Given the description of an element on the screen output the (x, y) to click on. 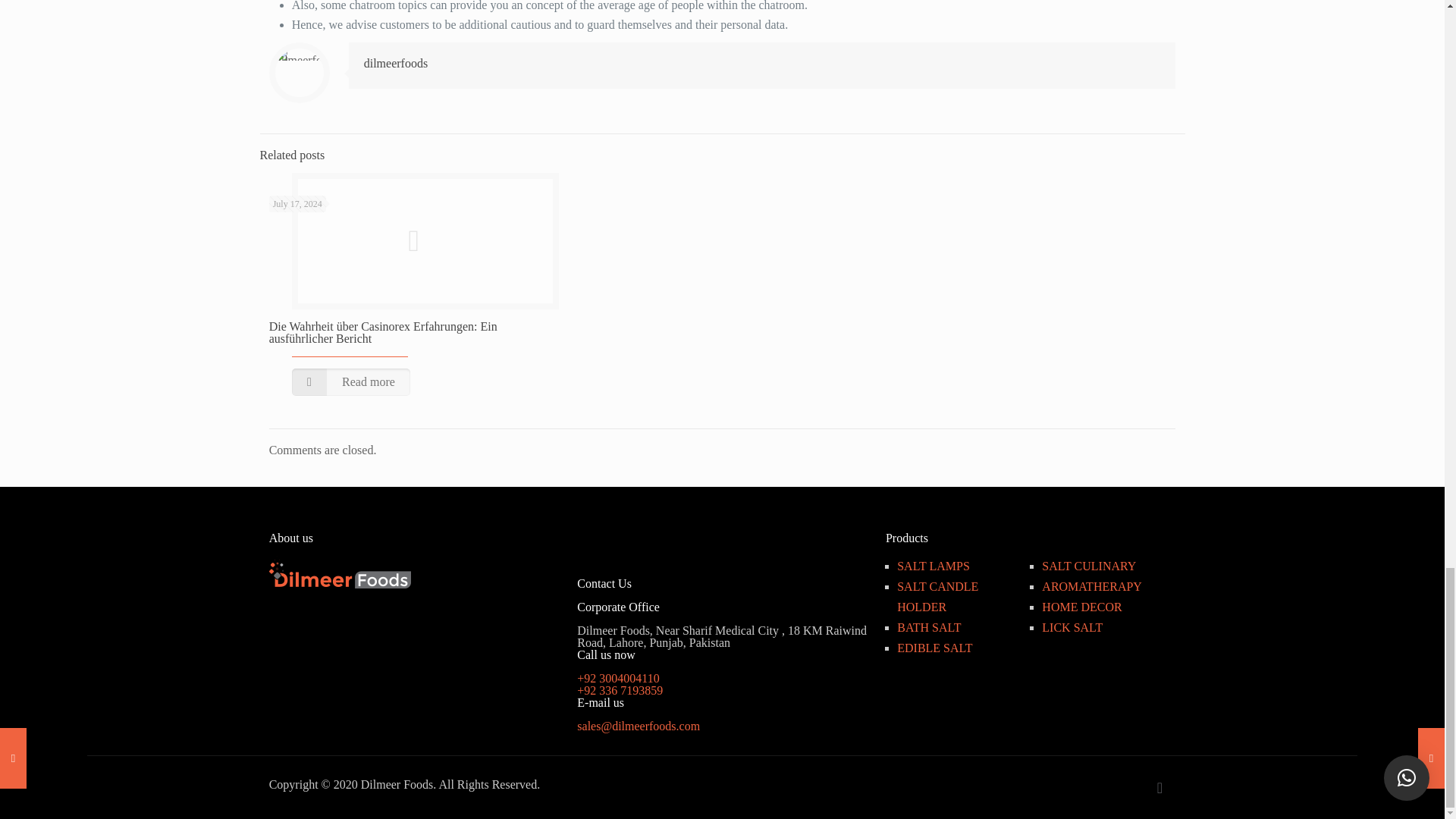
dilmeerfoods (396, 62)
